Given the description of an element on the screen output the (x, y) to click on. 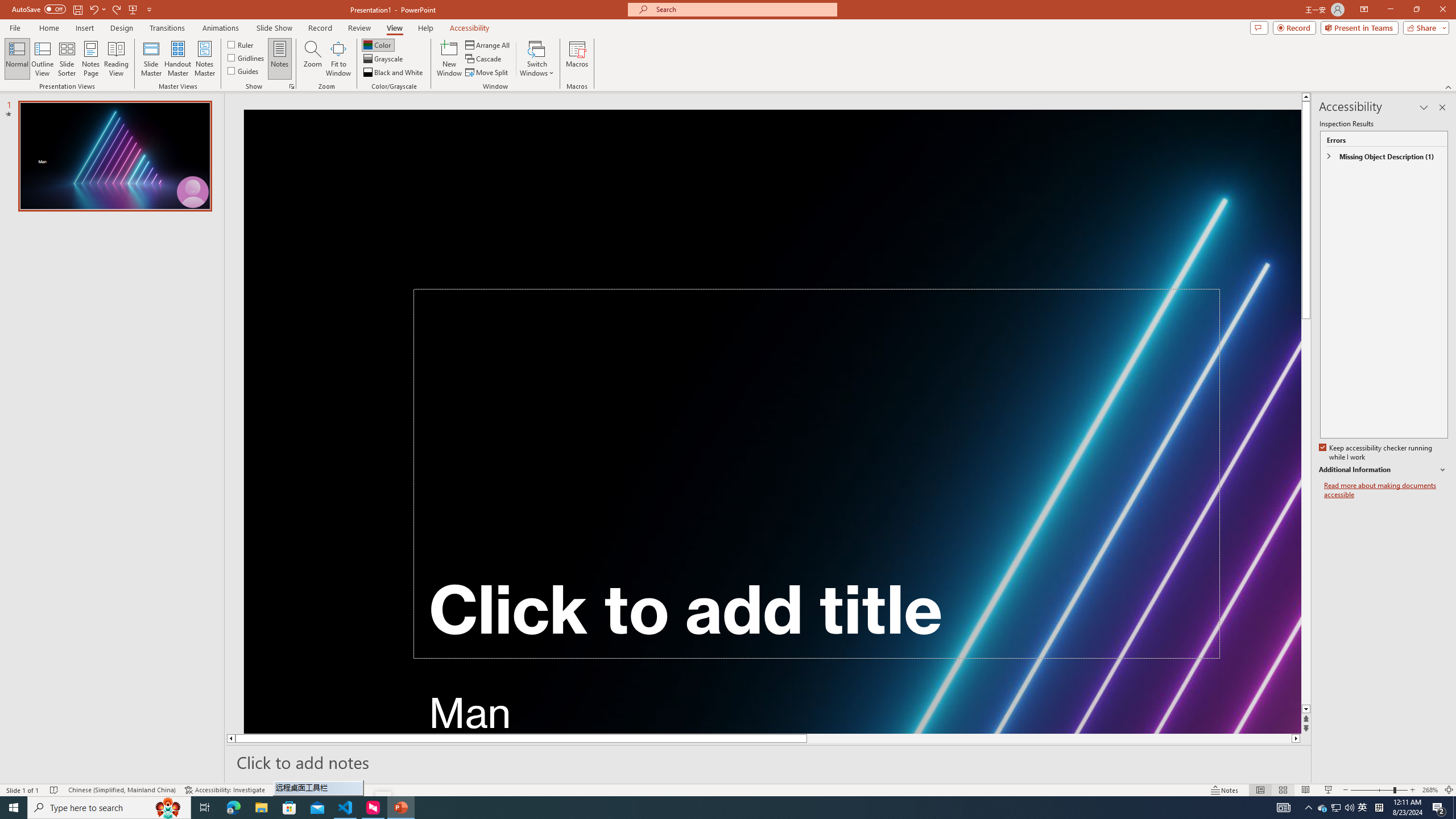
Macros (576, 58)
Neon laser lights aligned to form a triangle (772, 421)
Color (377, 44)
Fit to Window (338, 58)
